Given the description of an element on the screen output the (x, y) to click on. 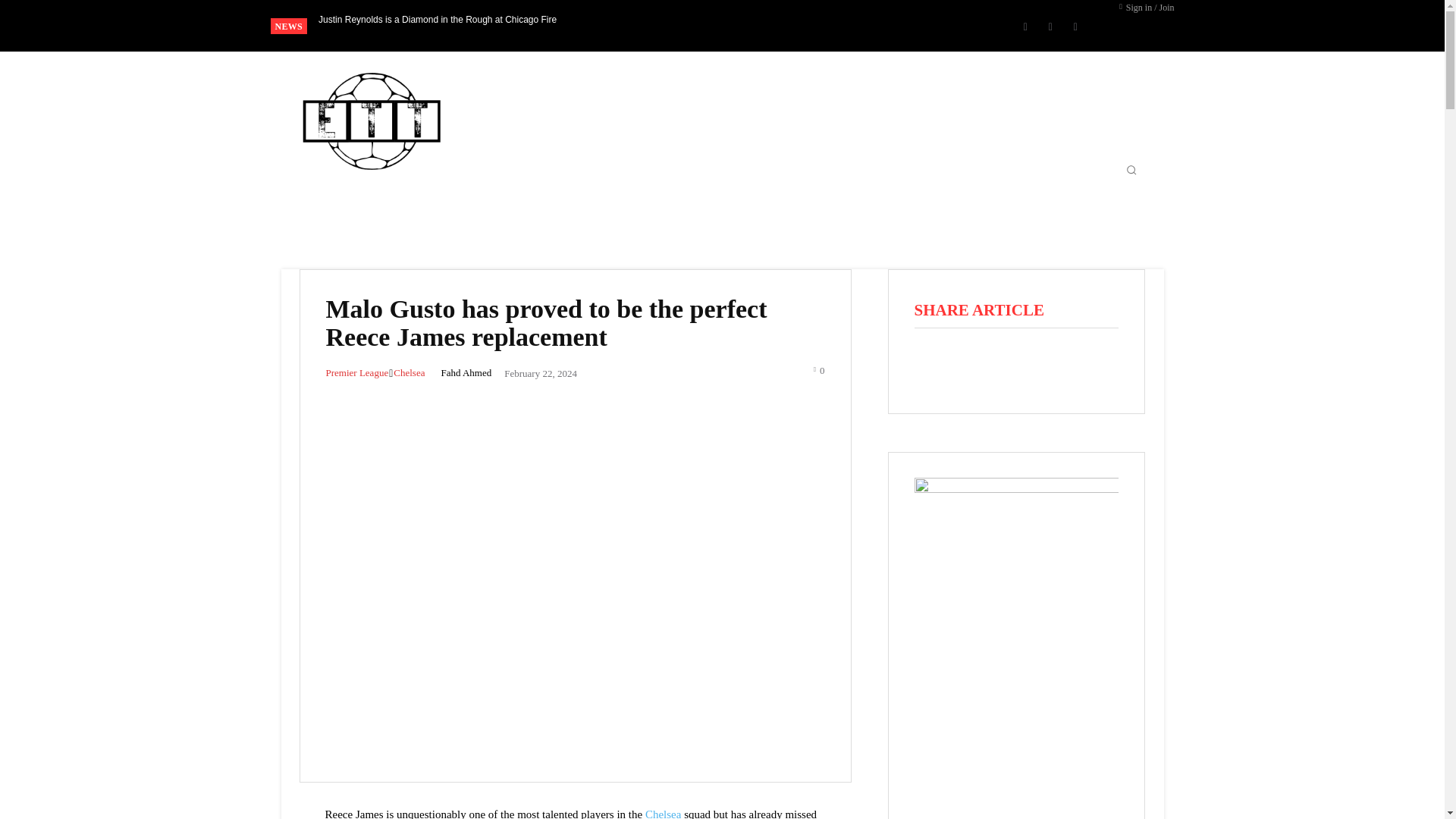
Instagram (1050, 25)
Facebook (1024, 25)
Justin Reynolds is a Diamond in the Rough at Chicago Fire (437, 18)
Justin Reynolds is a Diamond in the Rough at Chicago Fire (437, 18)
